Given the description of an element on the screen output the (x, y) to click on. 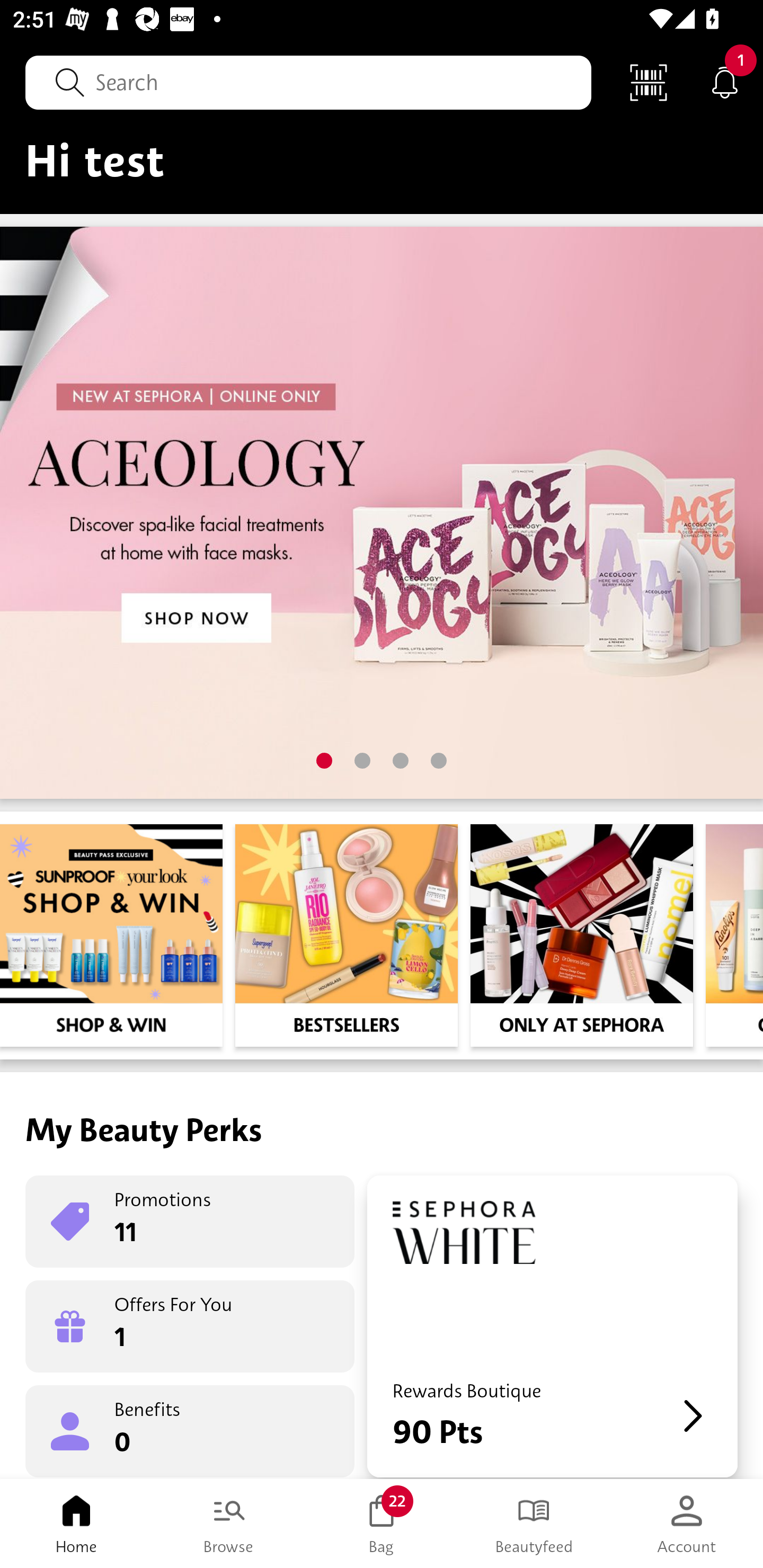
Scan Code (648, 81)
Notifications (724, 81)
Search (308, 81)
Promotions 11 (189, 1221)
Rewards Boutique 90 Pts (552, 1326)
Offers For You 1 (189, 1326)
Benefits 0 (189, 1430)
Browse (228, 1523)
Bag 22 Bag (381, 1523)
Beautyfeed (533, 1523)
Account (686, 1523)
